Given the description of an element on the screen output the (x, y) to click on. 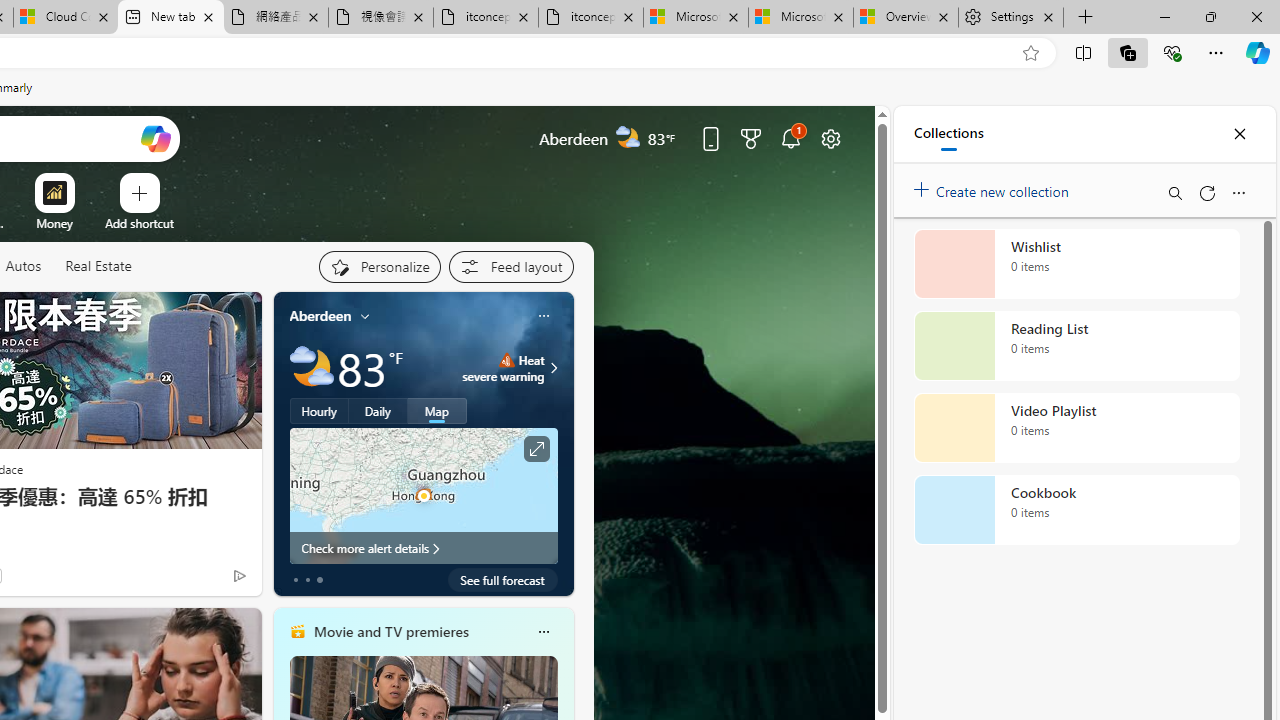
Hourly (319, 411)
Page settings (831, 138)
Check more alert details (423, 547)
tab-2 (319, 579)
My location (365, 315)
Autos (22, 265)
Class: icon-img (543, 632)
Feed settings (510, 266)
Larger map  (423, 495)
Aberdeen (320, 315)
Class: weather-arrow-glyph (554, 367)
Overview (905, 17)
